Given the description of an element on the screen output the (x, y) to click on. 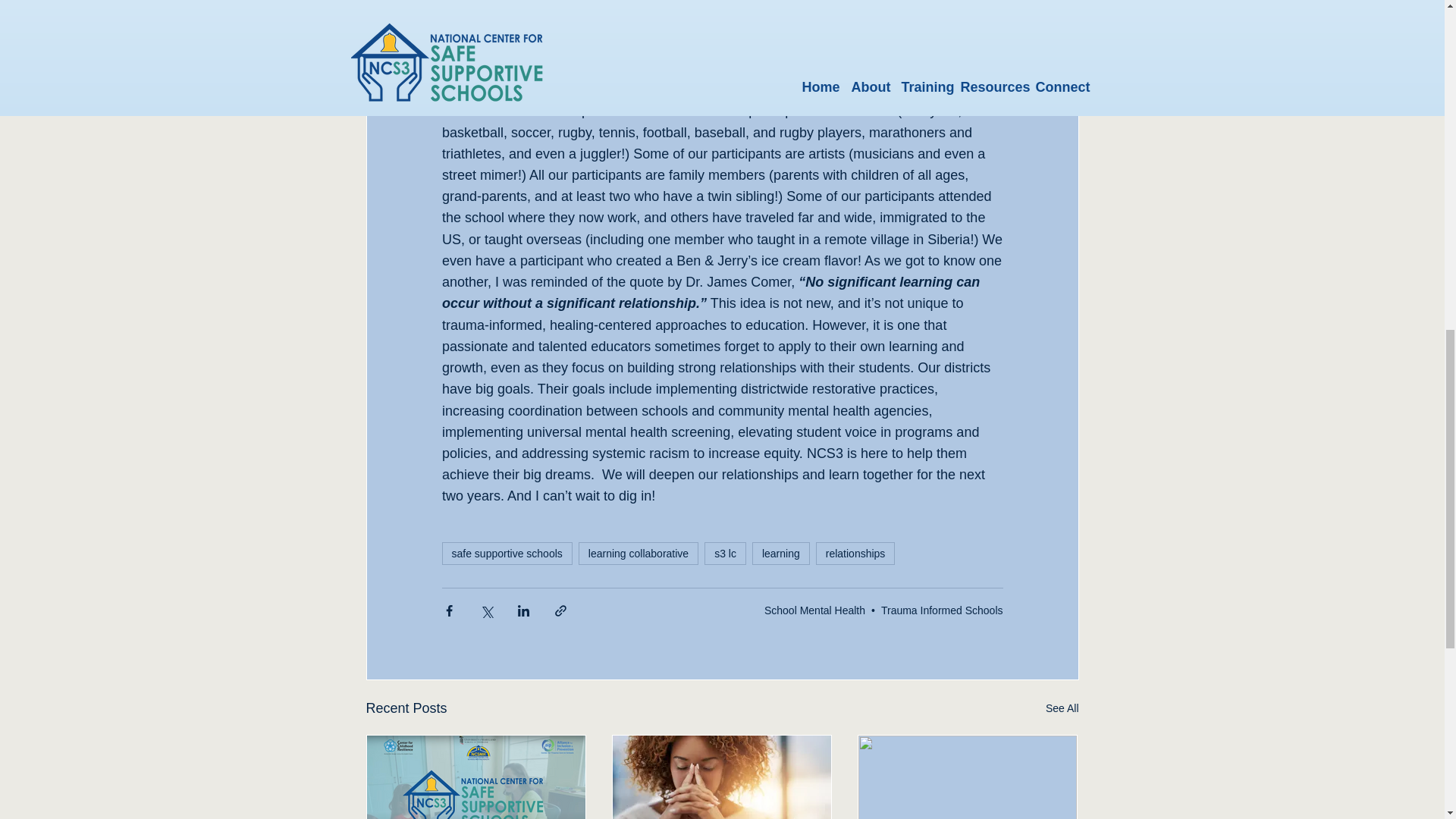
School Mental Health (814, 610)
relationships (855, 553)
learning (780, 553)
learning collaborative (638, 553)
See All (1061, 708)
safe supportive schools (506, 553)
Trauma Informed Schools (941, 610)
s3 lc (724, 553)
